Given the description of an element on the screen output the (x, y) to click on. 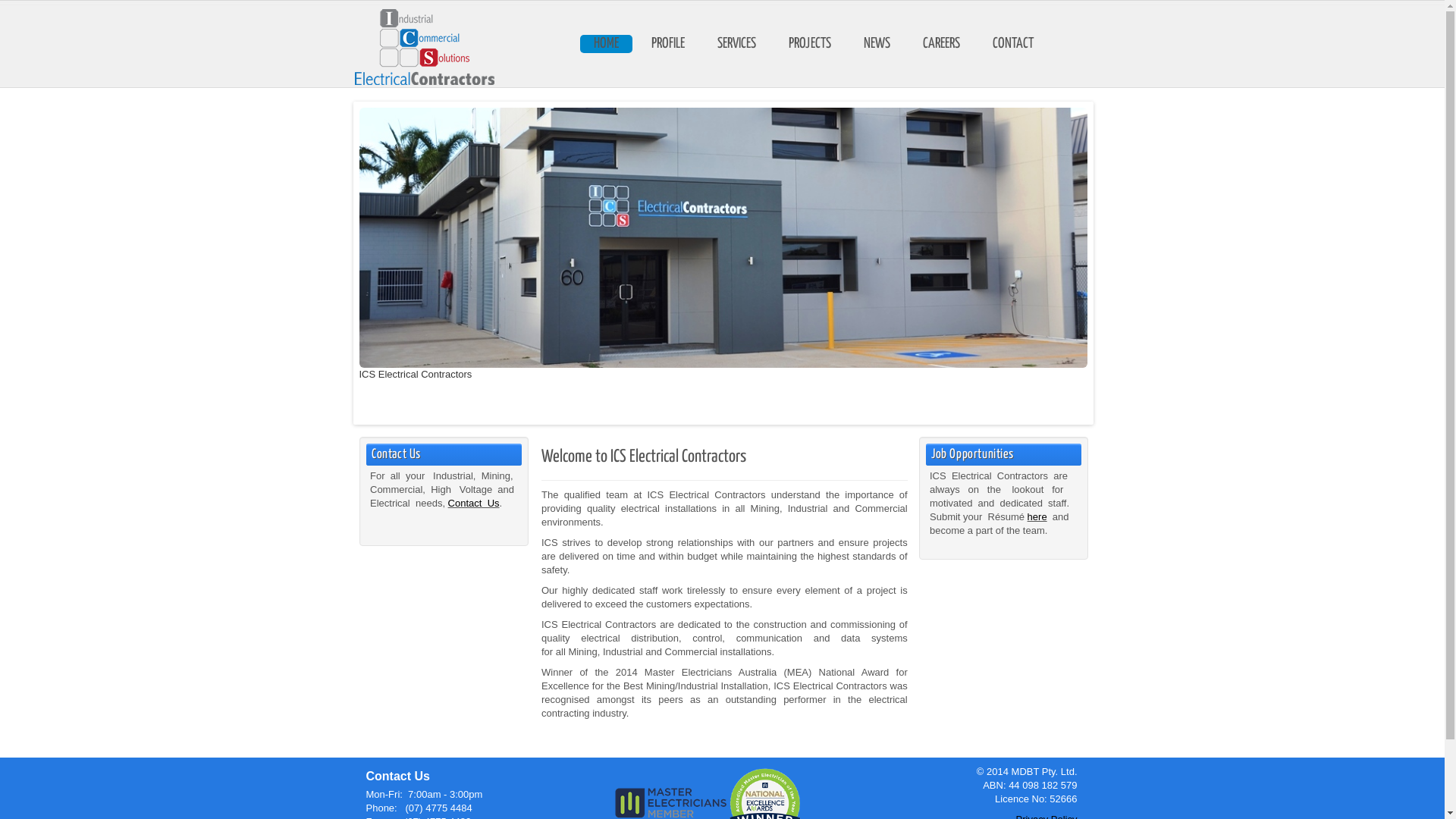
PROFILE Element type: text (667, 43)
here Element type: text (1037, 516)
SERVICES Element type: text (736, 43)
CAREERS Element type: text (940, 43)
HOME Element type: text (605, 43)
NEWS Element type: text (876, 43)
CONTACT Element type: text (1012, 43)
PROJECTS Element type: text (809, 43)
Contact  Us Element type: text (473, 502)
